Given the description of an element on the screen output the (x, y) to click on. 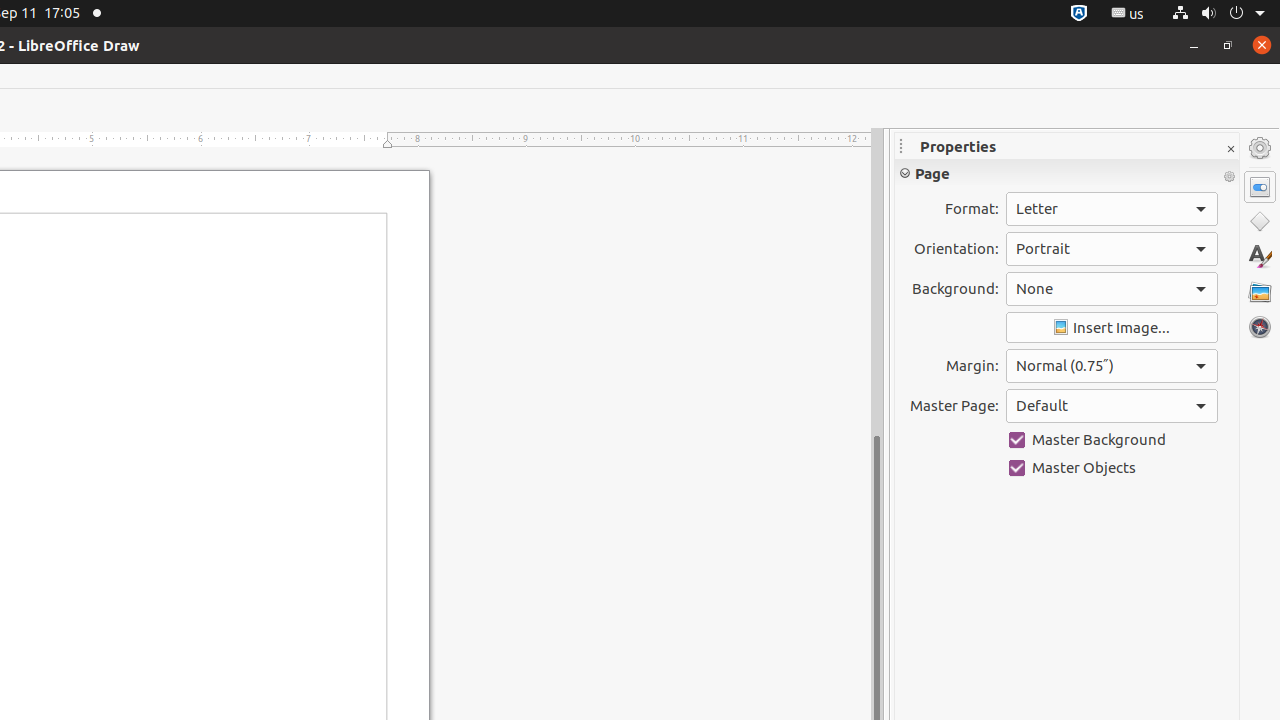
Background: Element type: combo-box (1112, 289)
Master Background Element type: check-box (1112, 440)
Format: Element type: combo-box (1112, 209)
Orientation: Element type: combo-box (1112, 249)
Navigator Element type: radio-button (1260, 327)
